Given the description of an element on the screen output the (x, y) to click on. 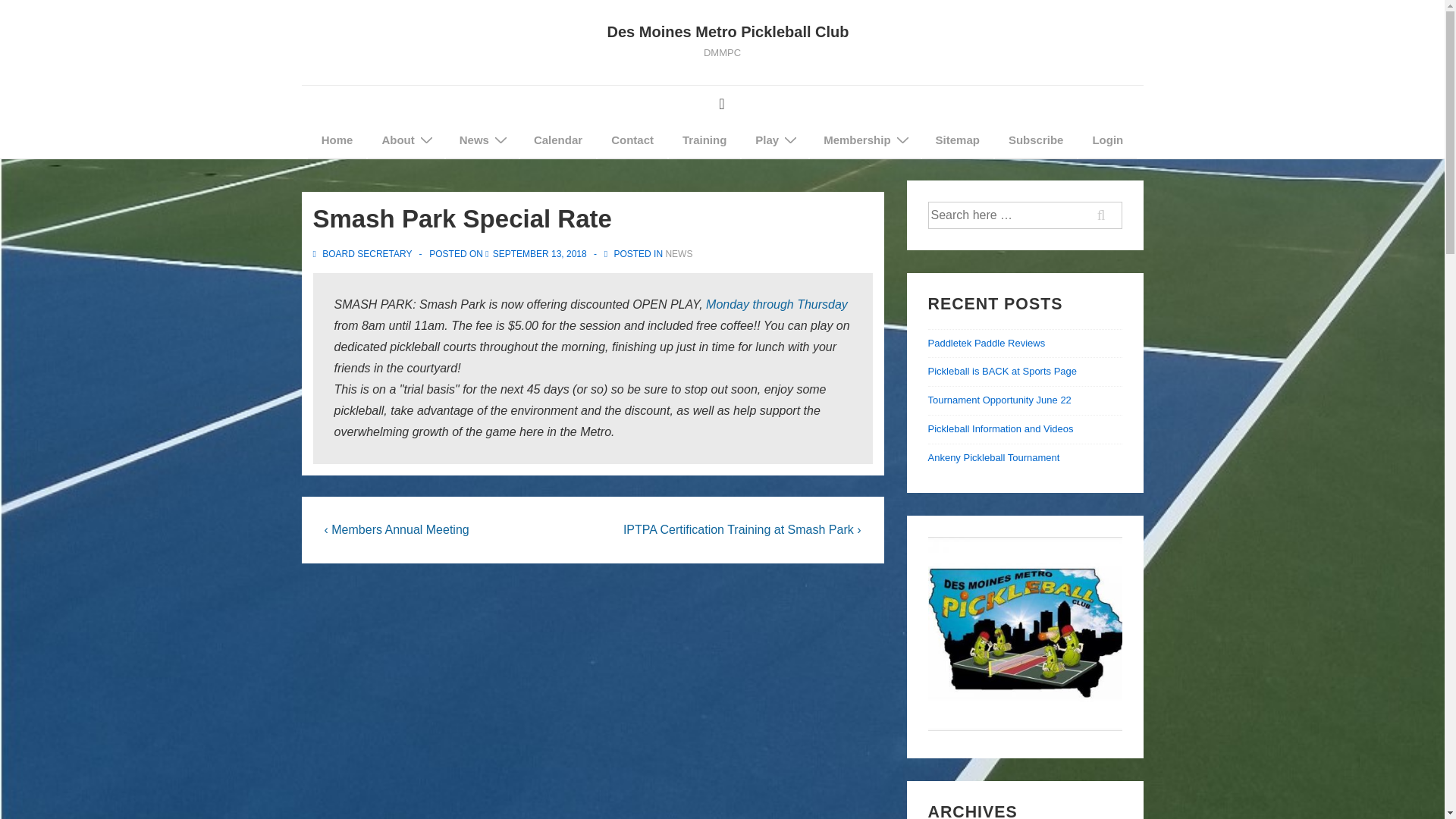
Play (774, 140)
Ankeny Pickleball Tournament (993, 457)
Smash Park Special Rate (539, 253)
Membership (864, 140)
NEWS (679, 253)
Home (336, 140)
News (481, 140)
Pickleball Information and Videos (1001, 428)
BOARD SECRETARY (363, 253)
Contact (631, 140)
